Given the description of an element on the screen output the (x, y) to click on. 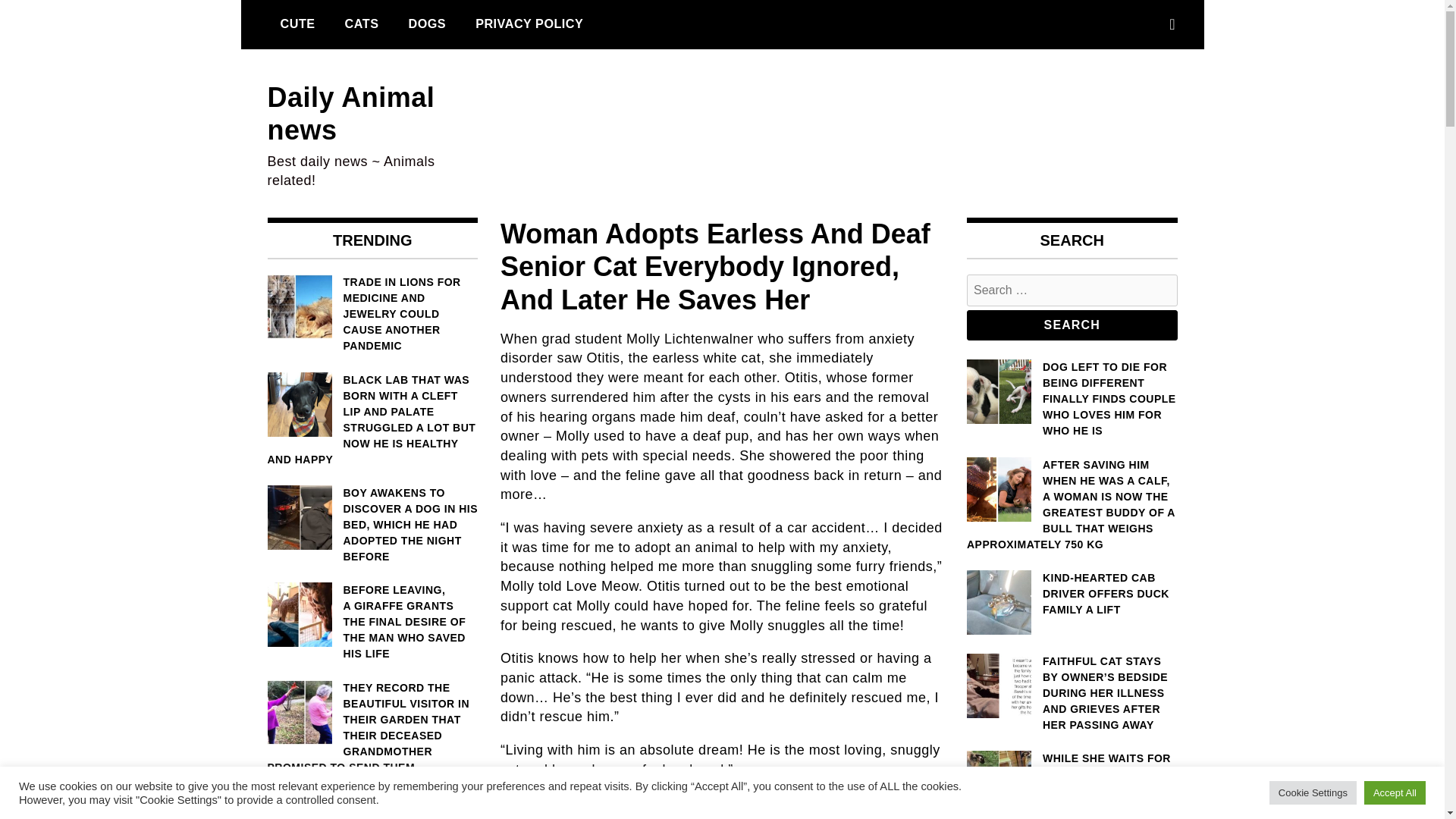
CUTE (296, 23)
DOGS (426, 23)
Daily Animal news (349, 113)
PRIVACY POLICY (529, 23)
Search (1071, 325)
Search (1071, 325)
Search (1071, 325)
CATS (361, 23)
